Given the description of an element on the screen output the (x, y) to click on. 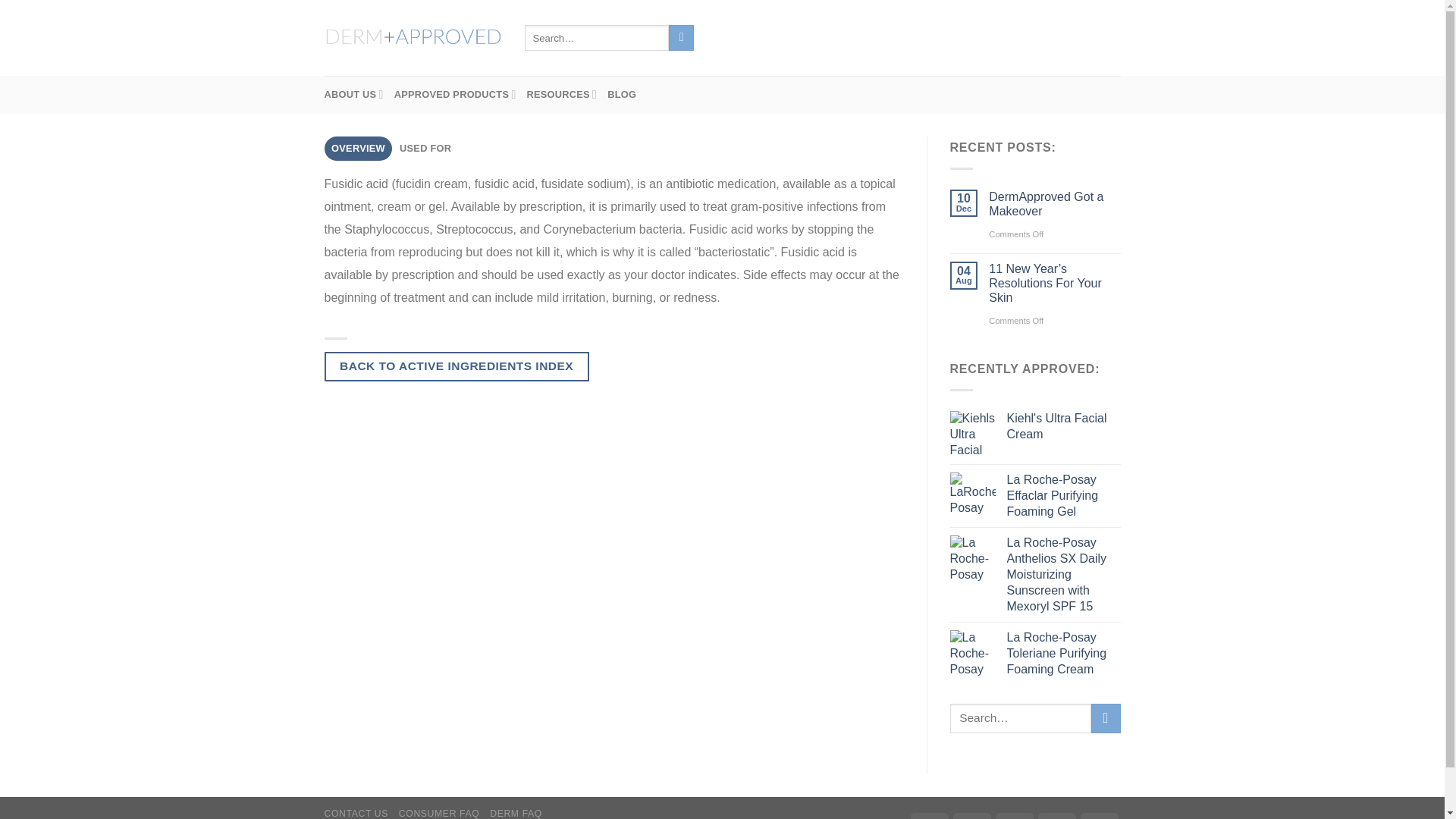
OVERVIEW (358, 148)
Derm Approved - Skin Care Derm Approved (413, 37)
APPROVED PRODUCTS (455, 94)
DermApproved Got a Makeover (1053, 203)
BLOG (621, 94)
Search (681, 37)
RESOURCES (561, 94)
ABOUT US (354, 94)
USED FOR (424, 148)
